Given the description of an element on the screen output the (x, y) to click on. 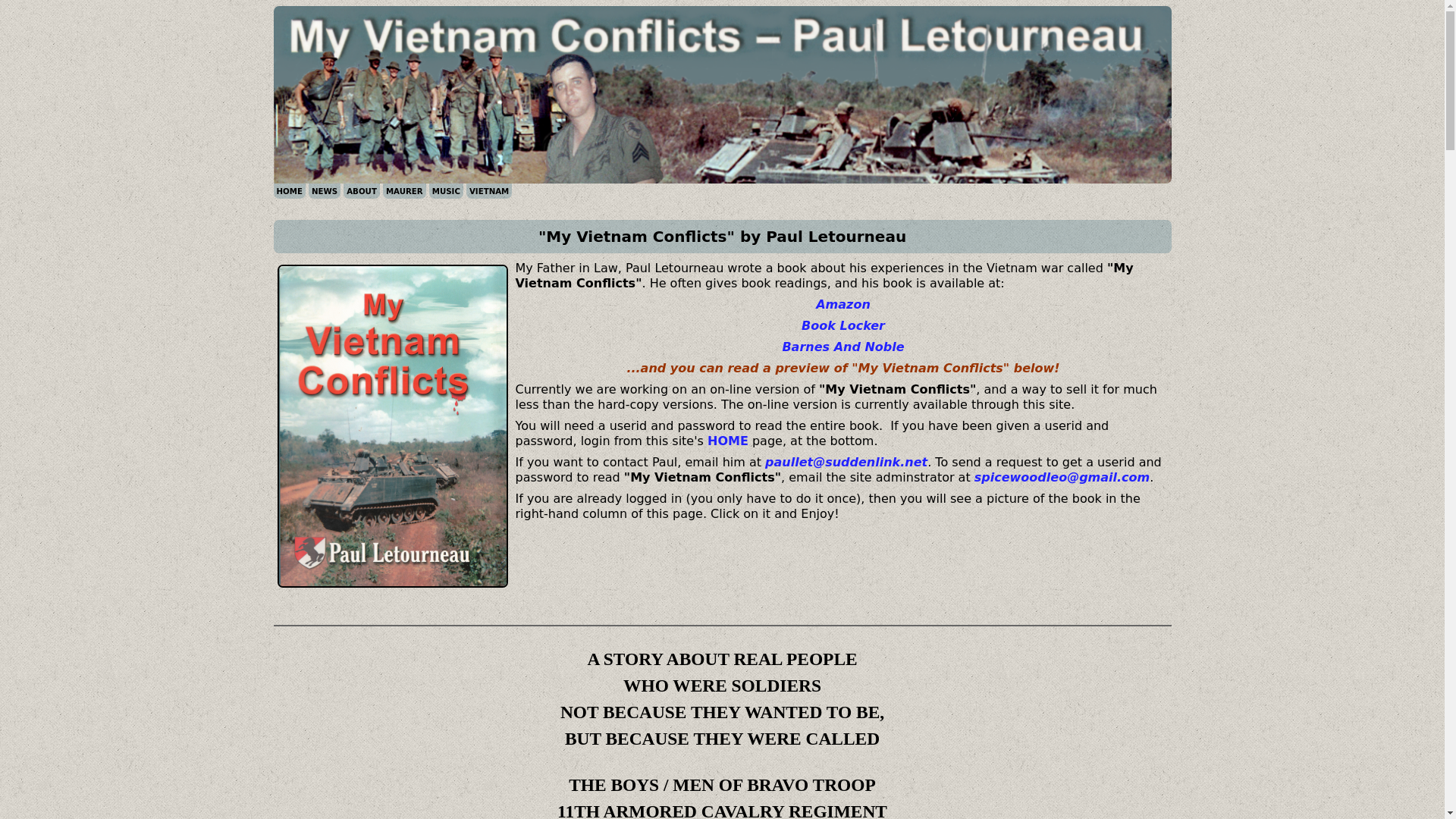
MUSIC (446, 190)
Go the the home page for leomaurer.com (288, 190)
Click here to Log in (727, 440)
HOME (288, 190)
Maurer and Letourneau Family related things (404, 190)
HOME (727, 440)
What's New on this site? (324, 190)
Amazon (842, 304)
Allow me to introduce myself... (361, 190)
Book Locker (843, 325)
